Given the description of an element on the screen output the (x, y) to click on. 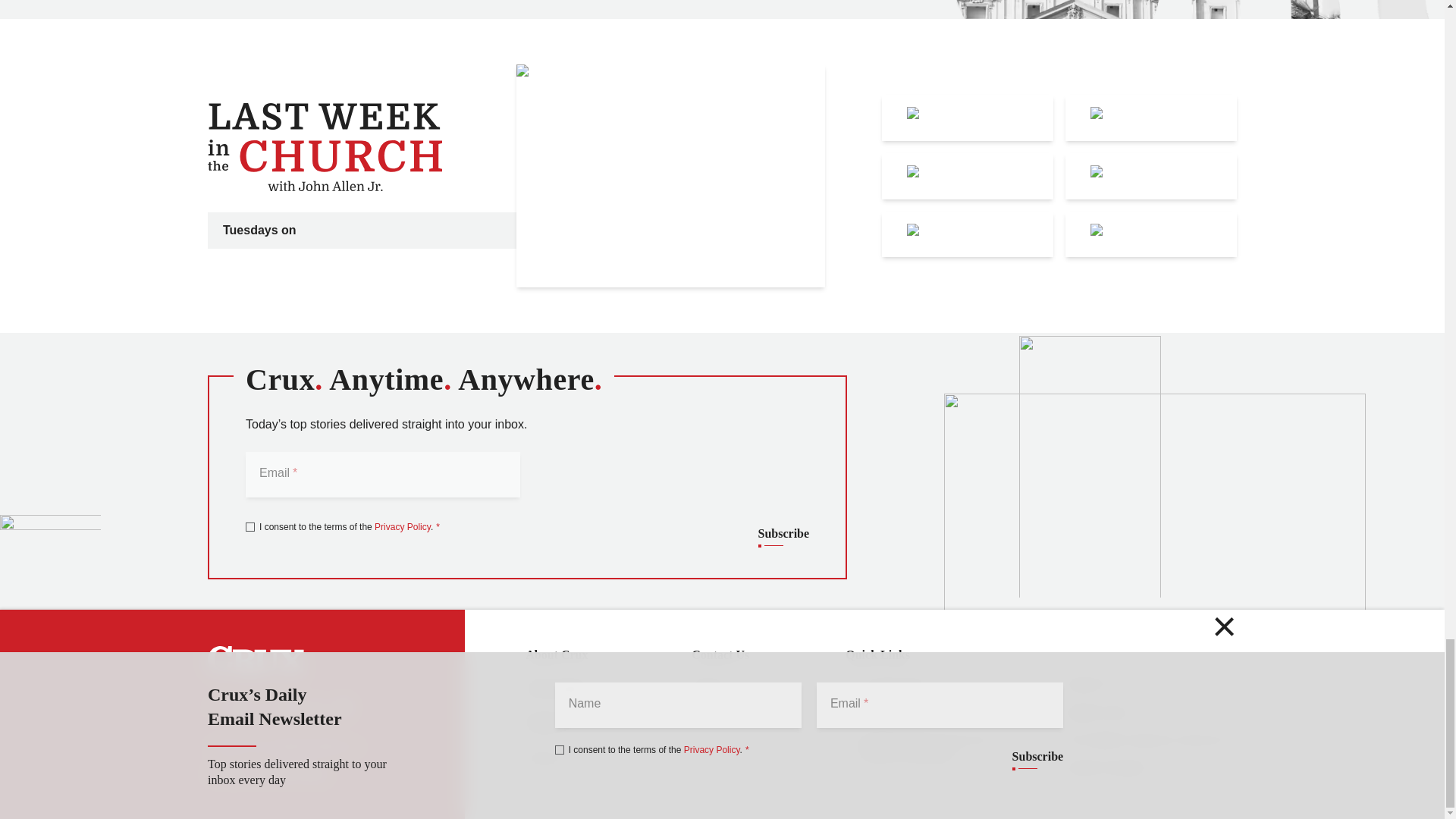
true (250, 526)
